Given the description of an element on the screen output the (x, y) to click on. 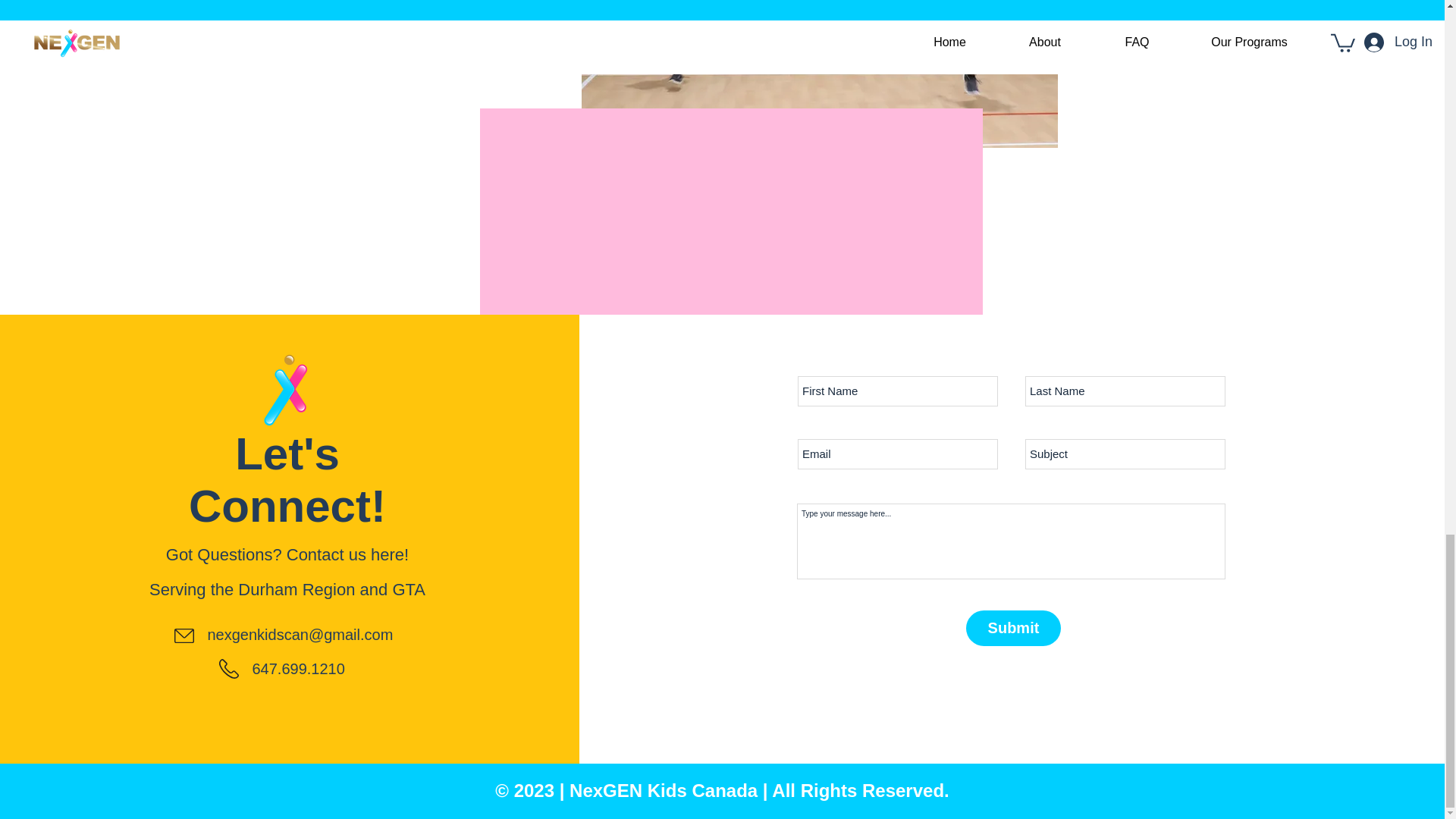
Submit (1013, 628)
